Given the description of an element on the screen output the (x, y) to click on. 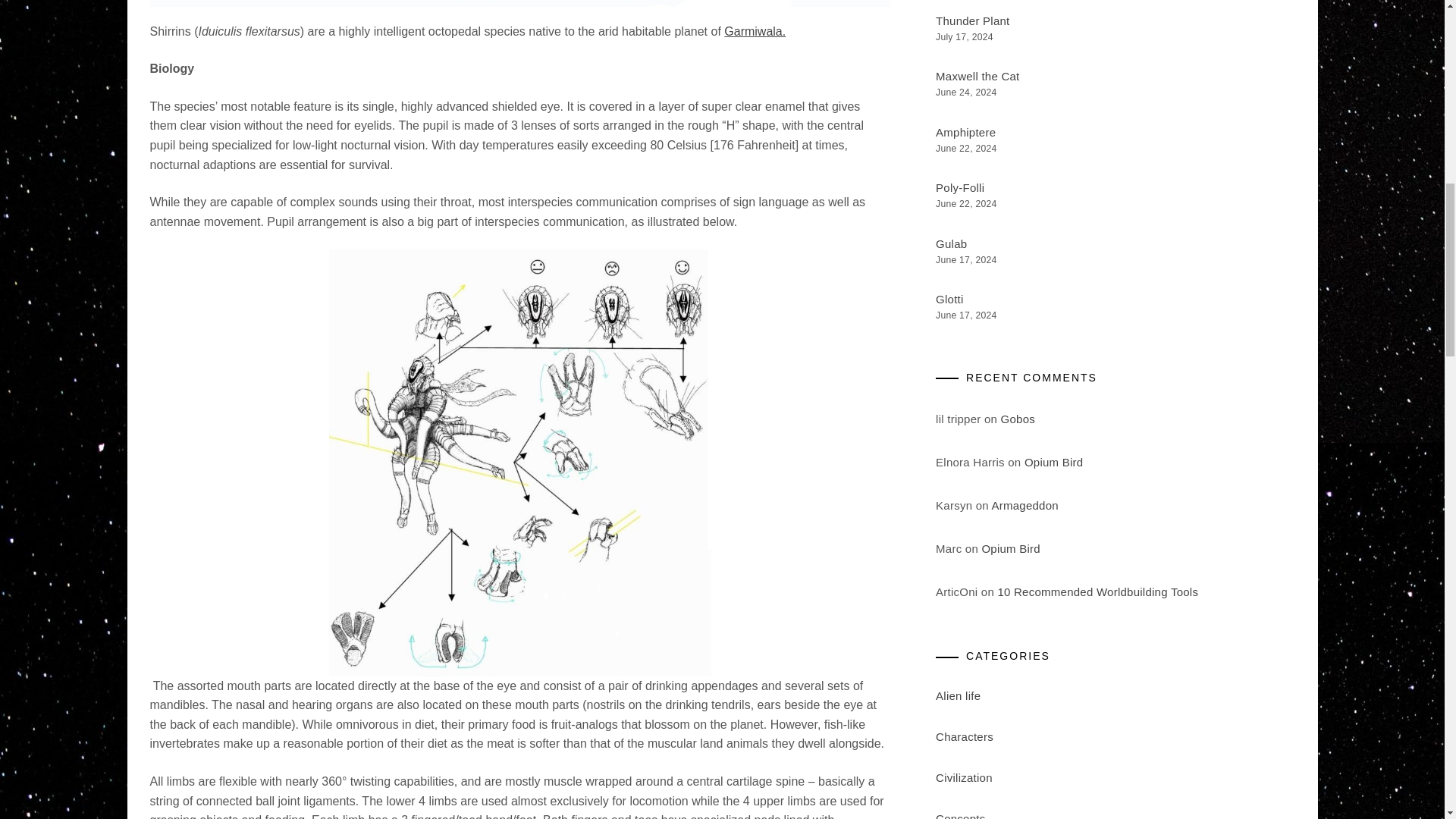
Garmiwala. (754, 31)
Thunder Plant (972, 20)
Poly-Folli (960, 187)
Maxwell the Cat (977, 75)
Amphiptere (965, 132)
